Given the description of an element on the screen output the (x, y) to click on. 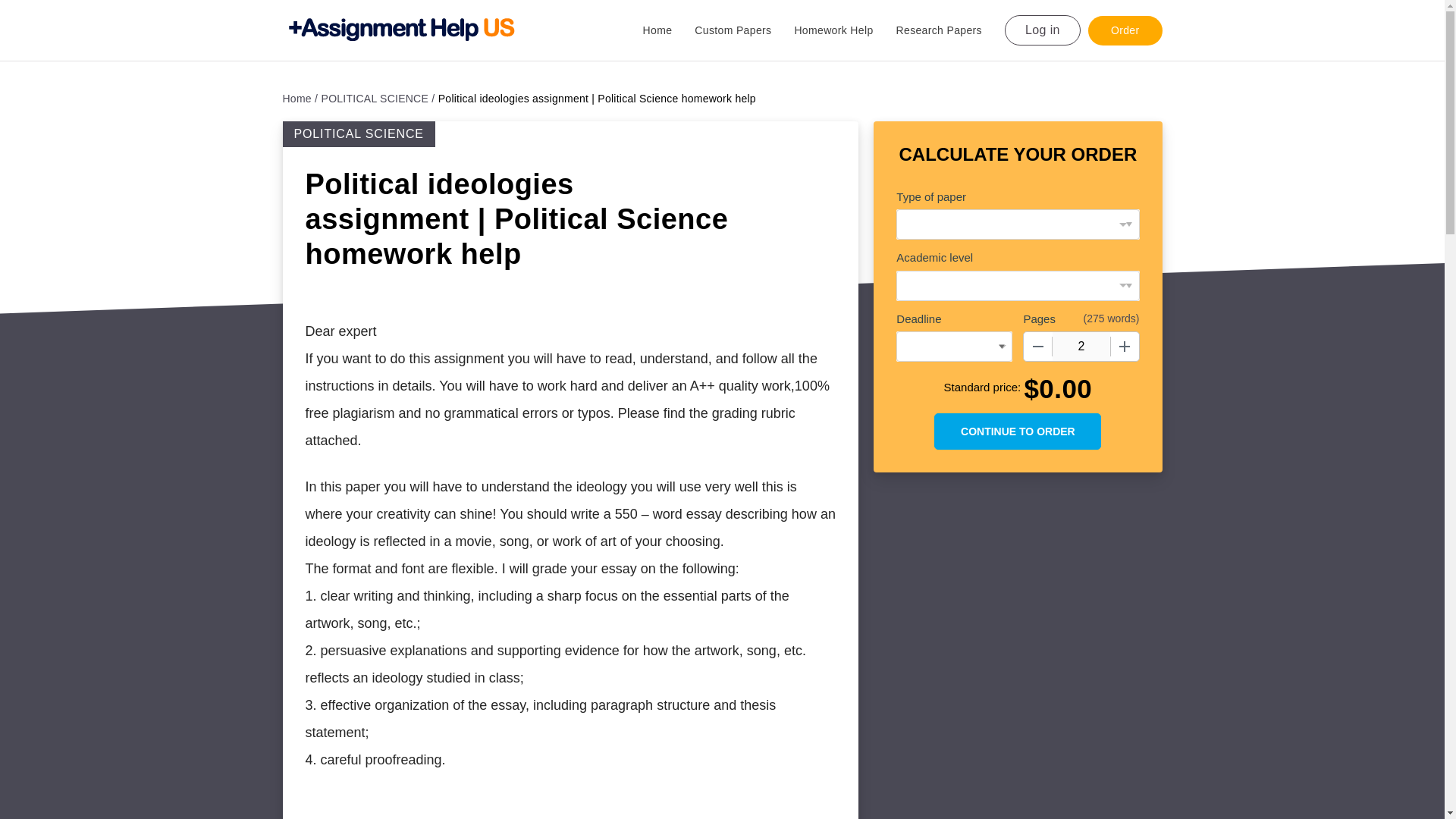
POLITICAL SCIENCE (378, 98)
Continue to order (1017, 431)
Continue to order (1017, 431)
Order (1124, 30)
Increase (1123, 346)
Research Papers (950, 30)
2 (1080, 346)
Custom Papers (743, 30)
Decrease (1037, 346)
Home (299, 98)
